Given the description of an element on the screen output the (x, y) to click on. 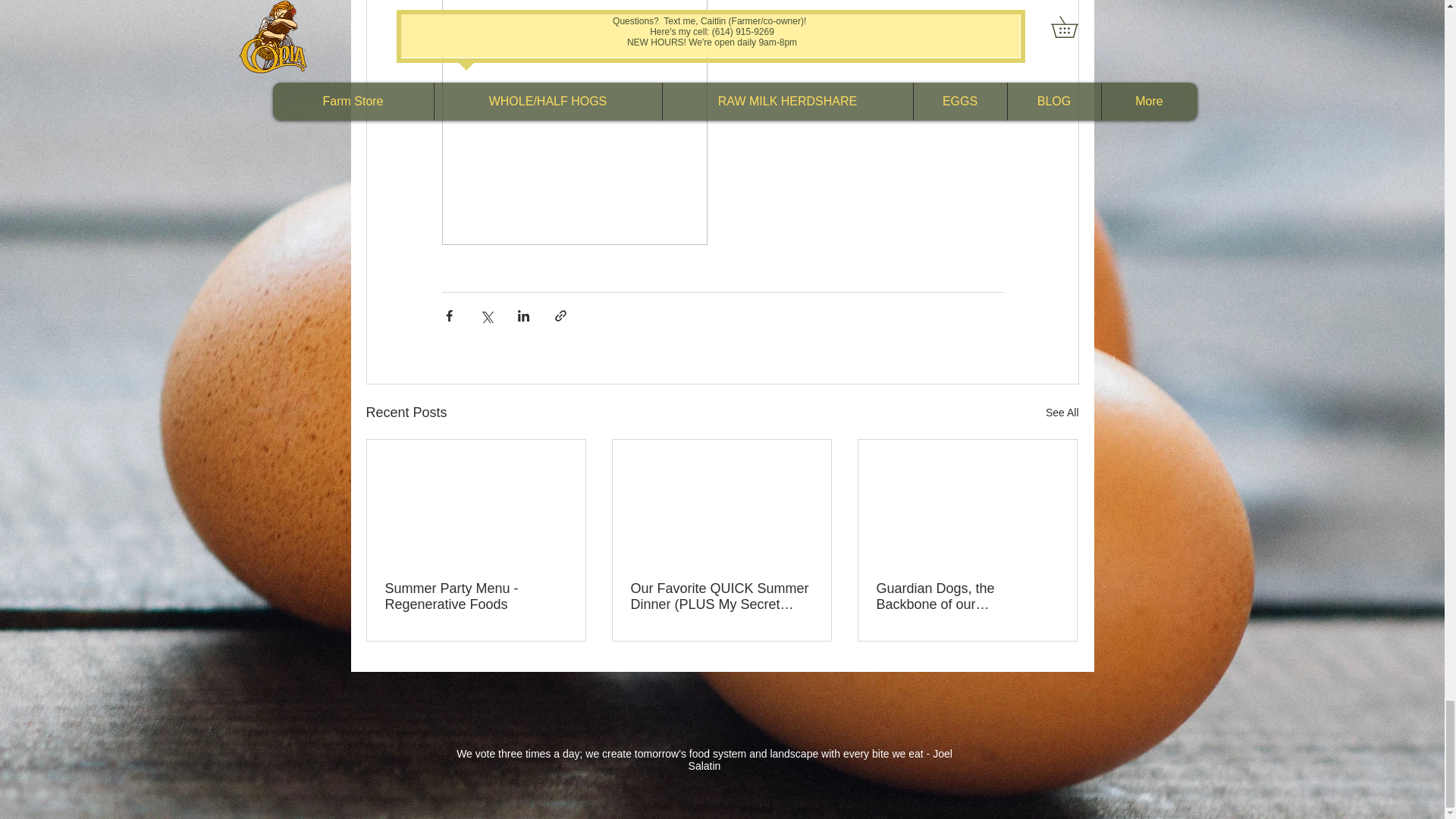
See All (1061, 413)
Guardian Dogs, the Backbone of our Regenerative System (967, 596)
Summer Party Menu - Regenerative Foods (476, 596)
